Given the description of an element on the screen output the (x, y) to click on. 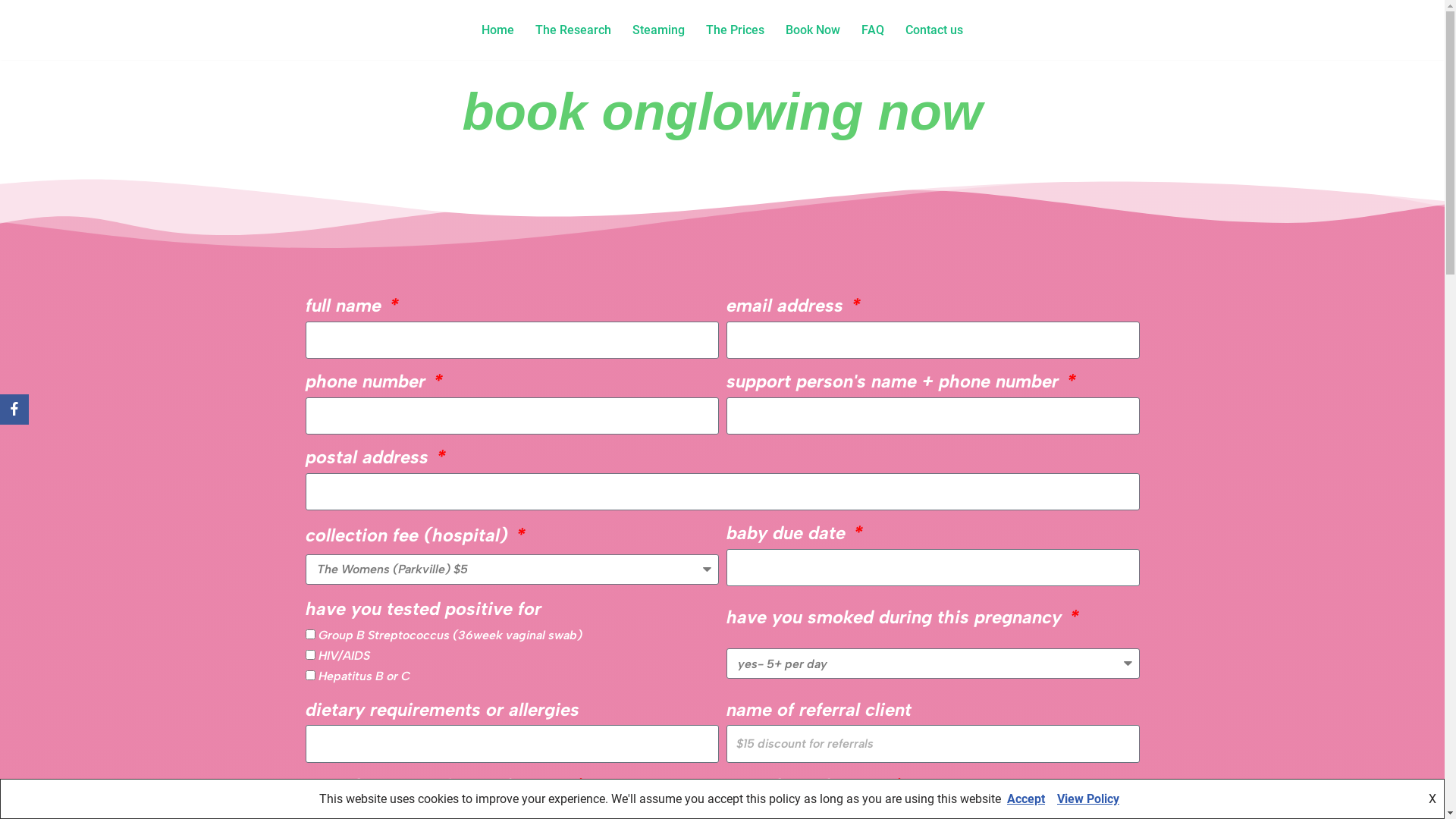
Home Element type: text (497, 29)
FAQ Element type: text (872, 29)
The Research Element type: text (573, 29)
Contact us Element type: text (934, 29)
Book Now Element type: text (812, 29)
View Policy Element type: text (1088, 798)
Skip to content Element type: text (11, 31)
Accept Element type: text (1026, 798)
The Prices Element type: text (735, 29)
Steaming Element type: text (658, 29)
